Given the description of an element on the screen output the (x, y) to click on. 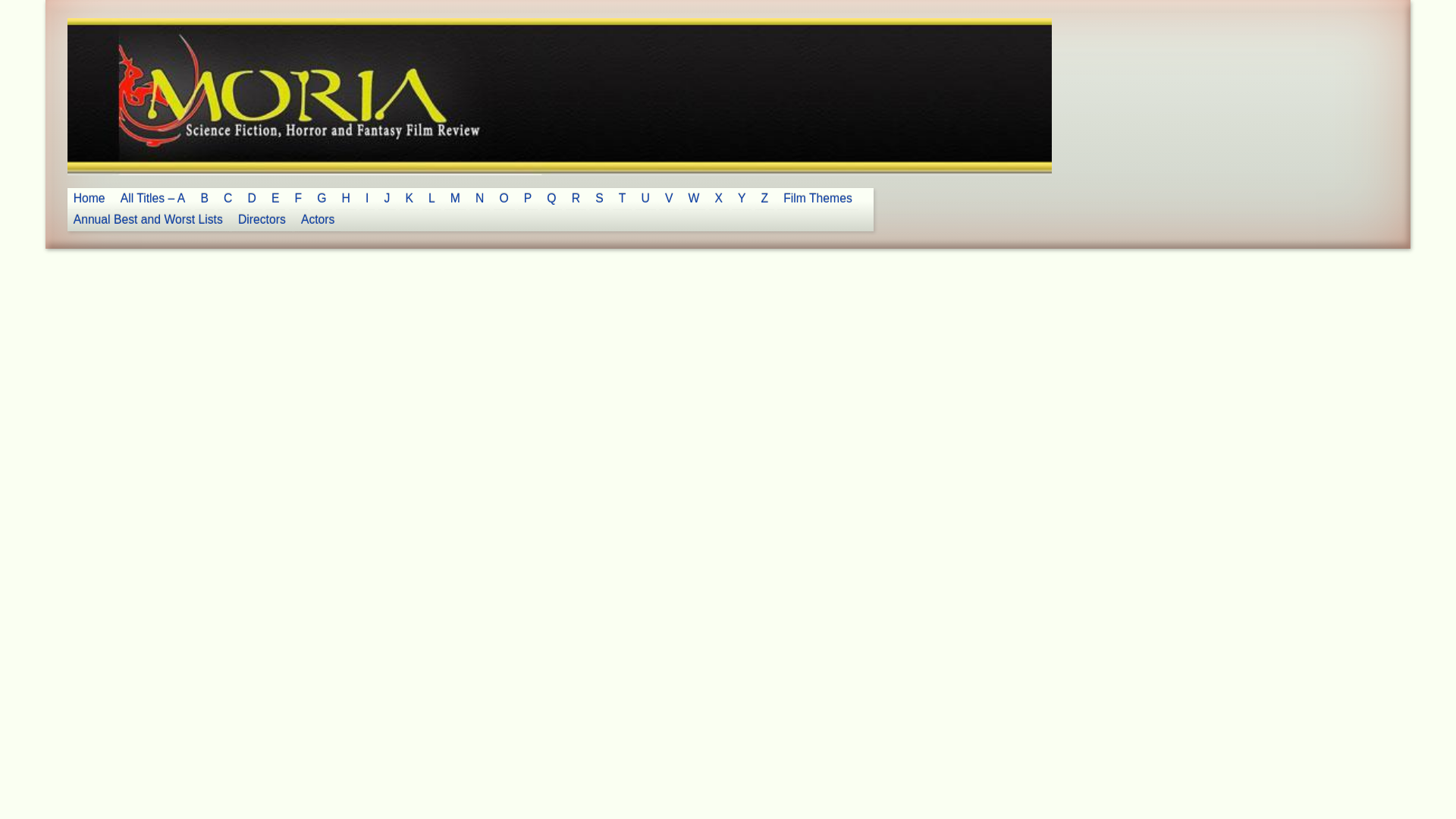
R (576, 198)
Q (551, 198)
M (454, 198)
Y (741, 198)
O (504, 198)
Moria (98, 54)
Film Themes (817, 198)
Actors (317, 219)
C (227, 198)
U (645, 198)
S (598, 198)
K (408, 198)
V (668, 198)
E (274, 198)
D (251, 198)
